Given the description of an element on the screen output the (x, y) to click on. 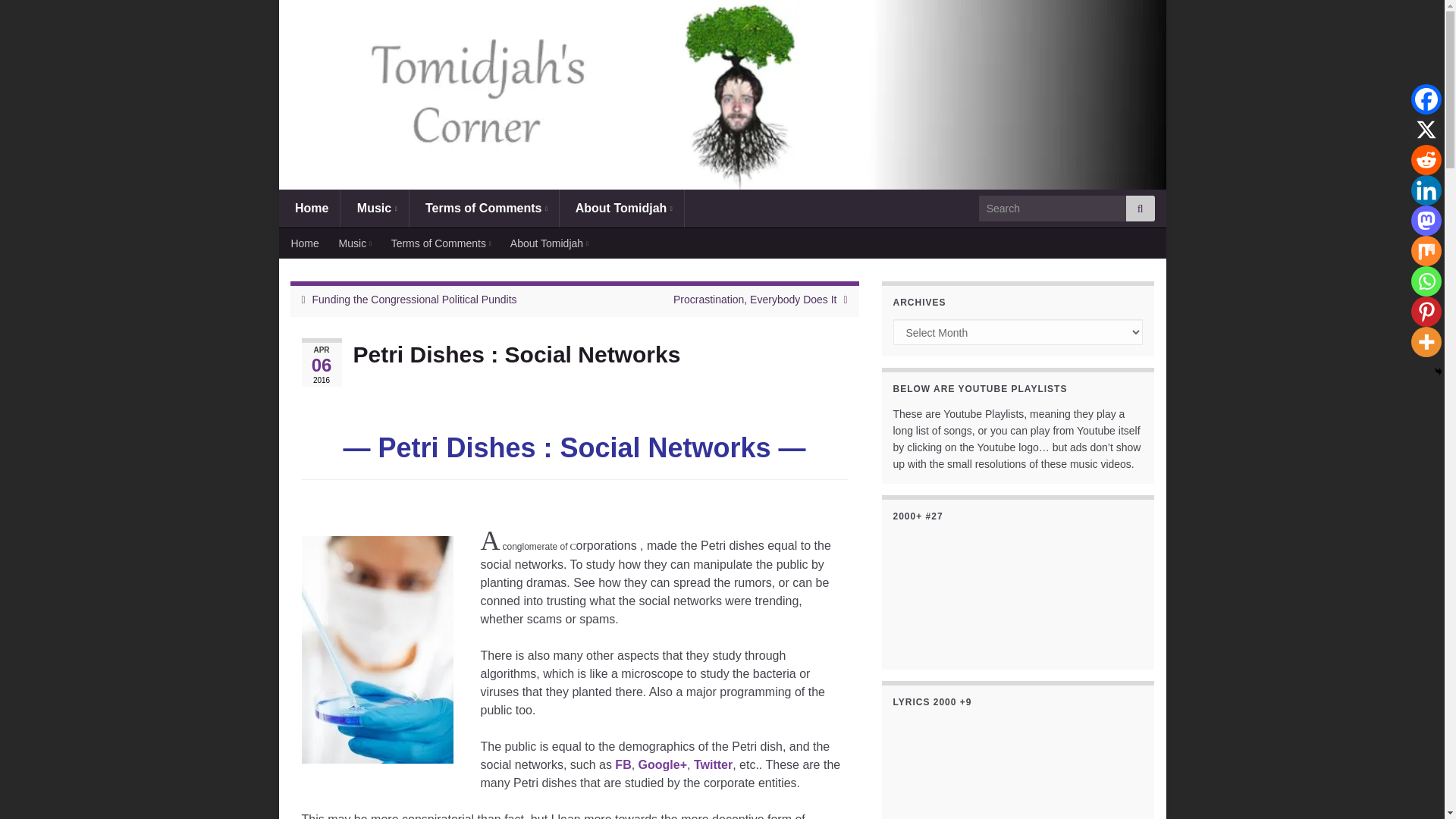
Home (309, 208)
Mastodon (1425, 220)
Linkedin (1425, 190)
X (1425, 129)
Terms of Comments (484, 208)
Reddit (1425, 159)
Music (373, 208)
Facebook (1425, 99)
